Given the description of an element on the screen output the (x, y) to click on. 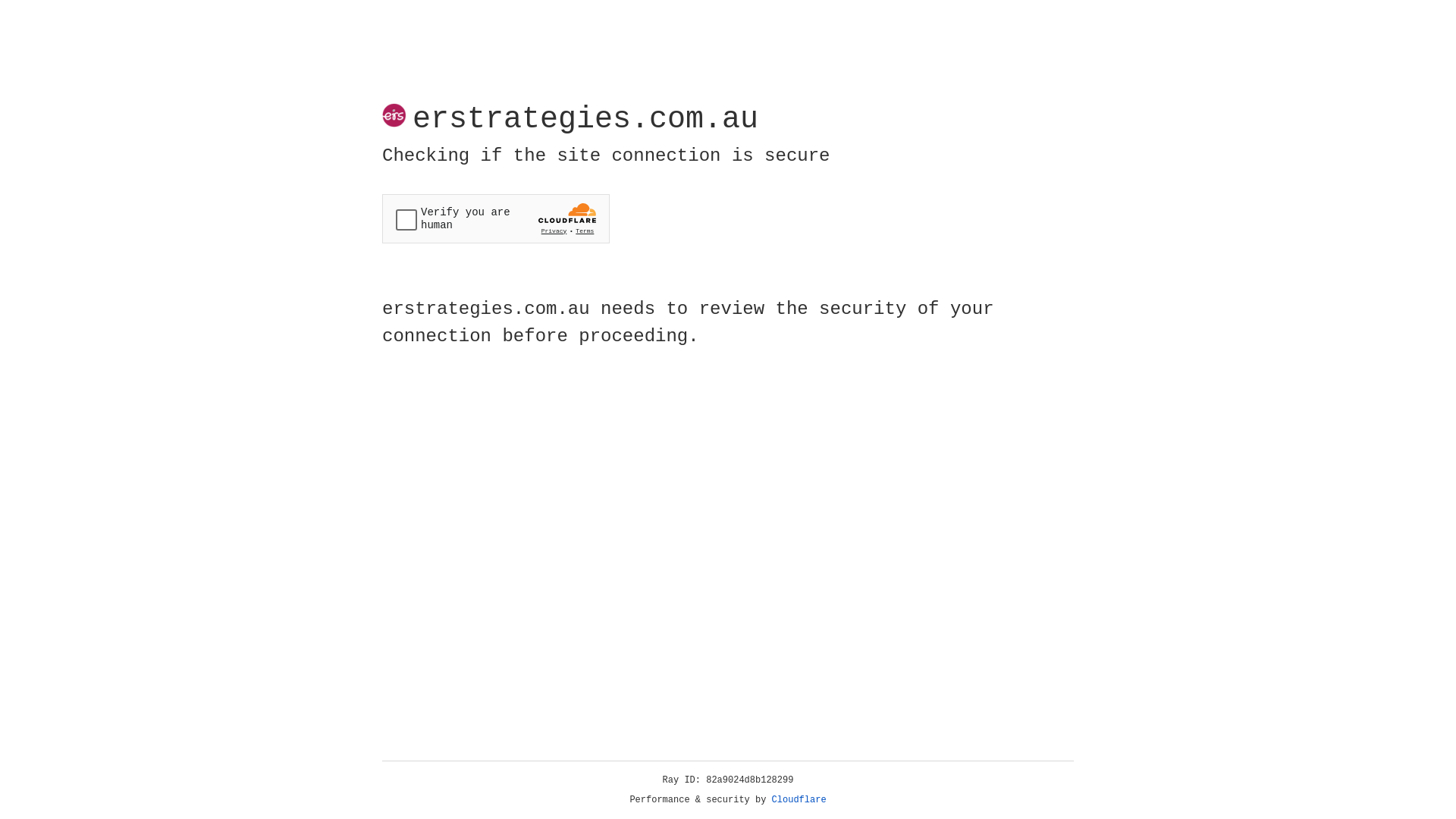
Widget containing a Cloudflare security challenge Element type: hover (495, 218)
Cloudflare Element type: text (798, 799)
